Given the description of an element on the screen output the (x, y) to click on. 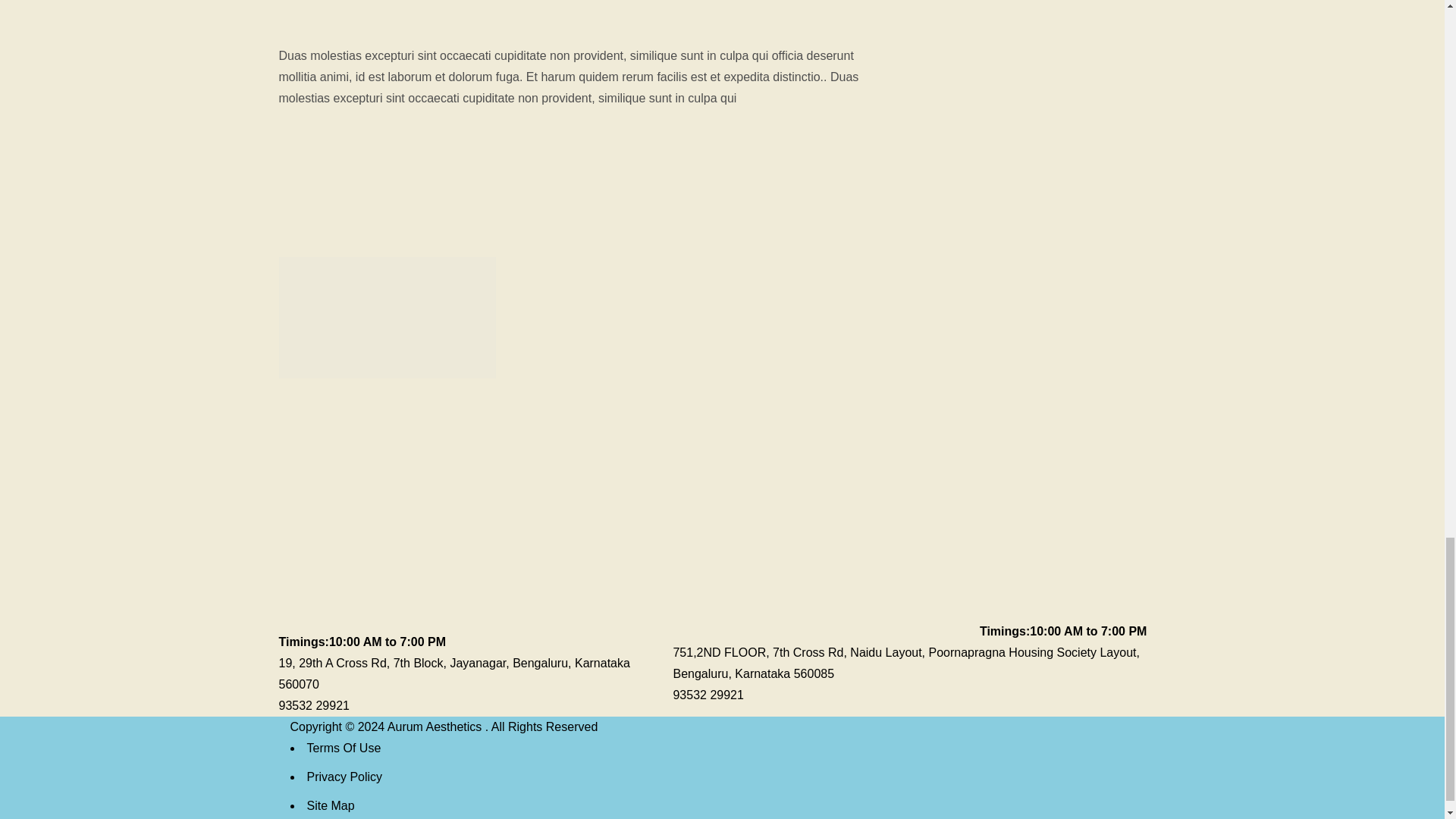
Terms Of Use (342, 748)
Privacy Policy (343, 776)
Site Map (329, 805)
Aurum Aesthetics (435, 726)
